Given the description of an element on the screen output the (x, y) to click on. 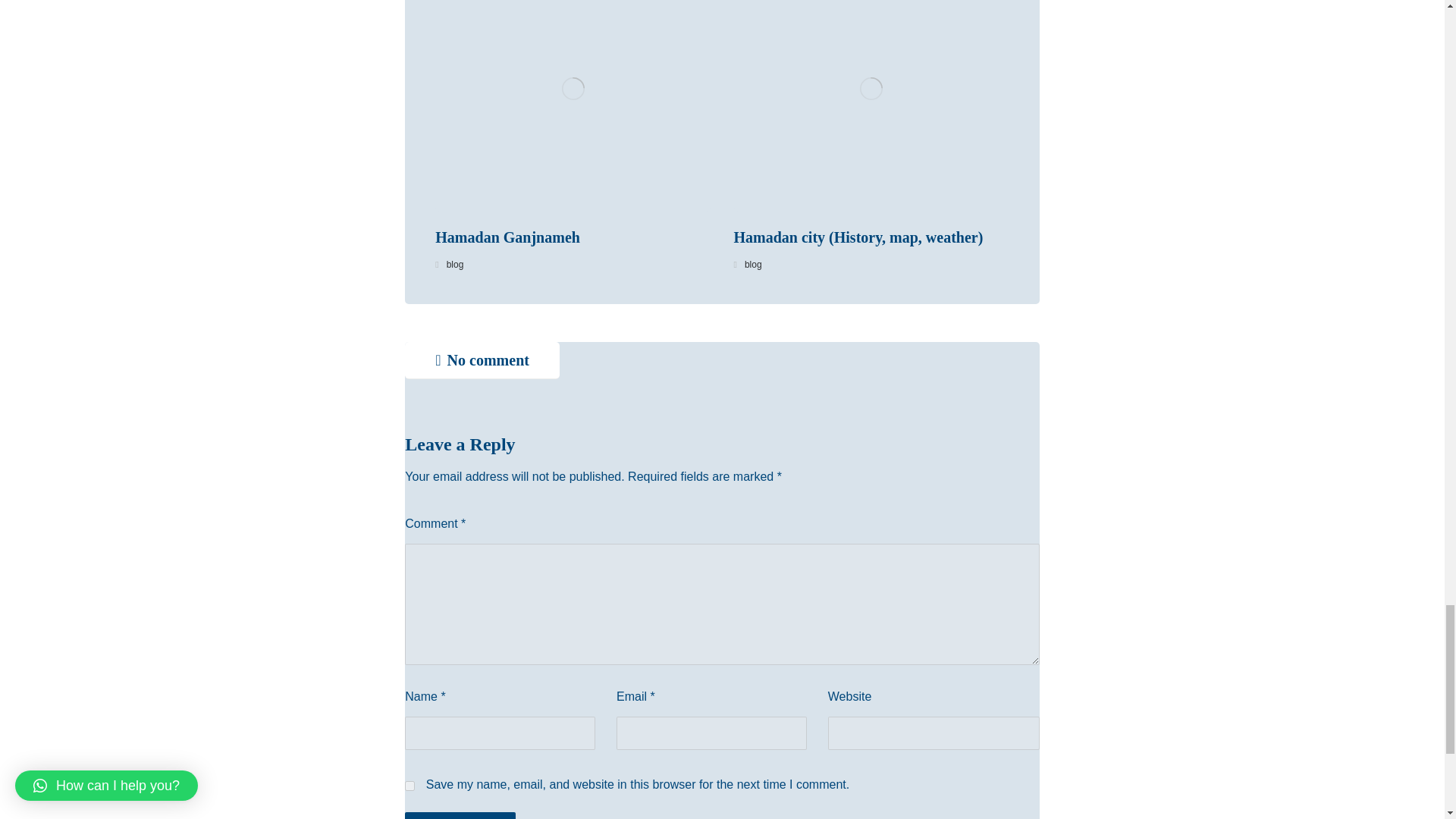
yes (409, 786)
Post Comment (459, 815)
